Given the description of an element on the screen output the (x, y) to click on. 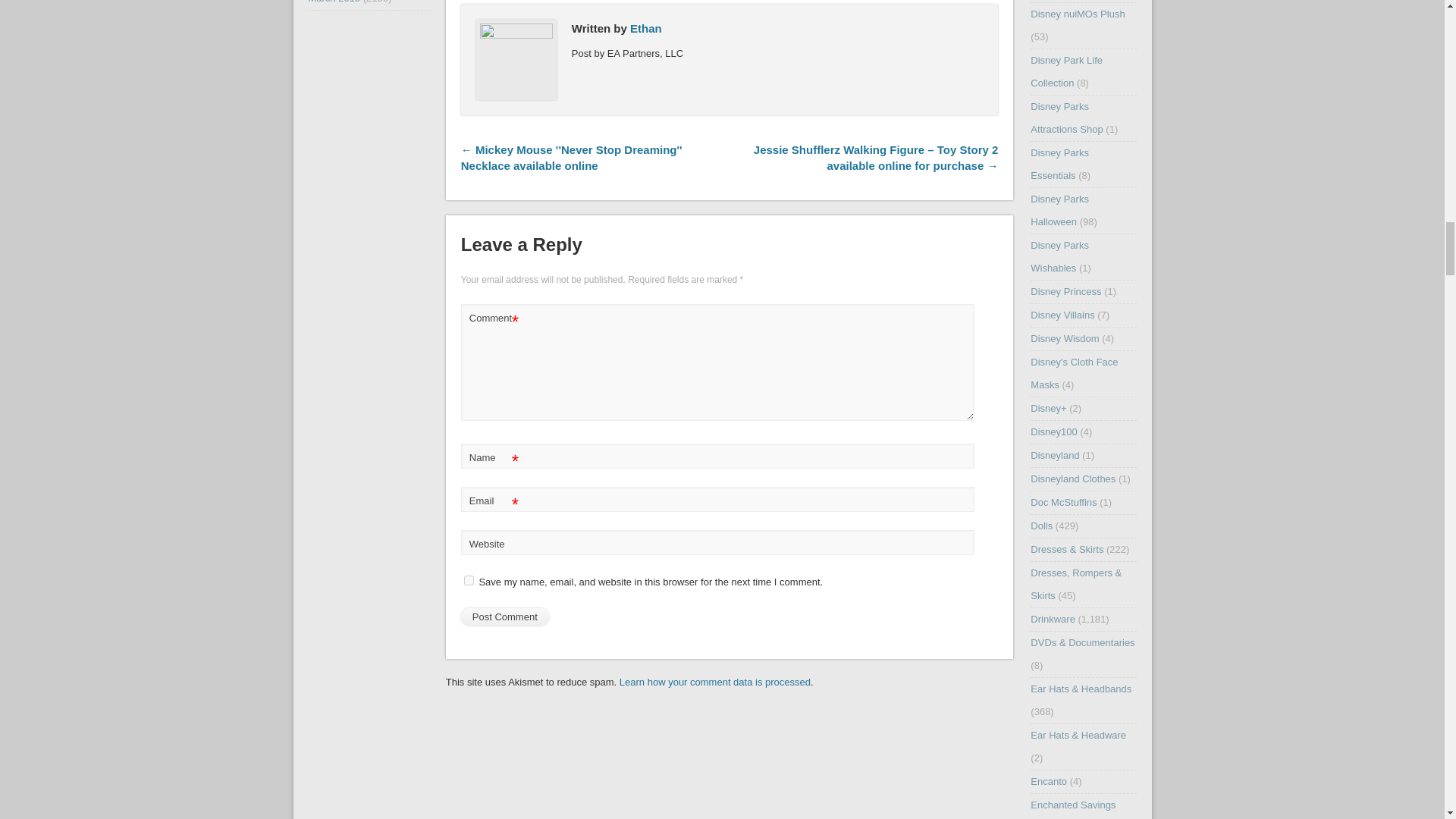
Post Comment (504, 616)
yes (469, 580)
Posts by Ethan (646, 28)
